Given the description of an element on the screen output the (x, y) to click on. 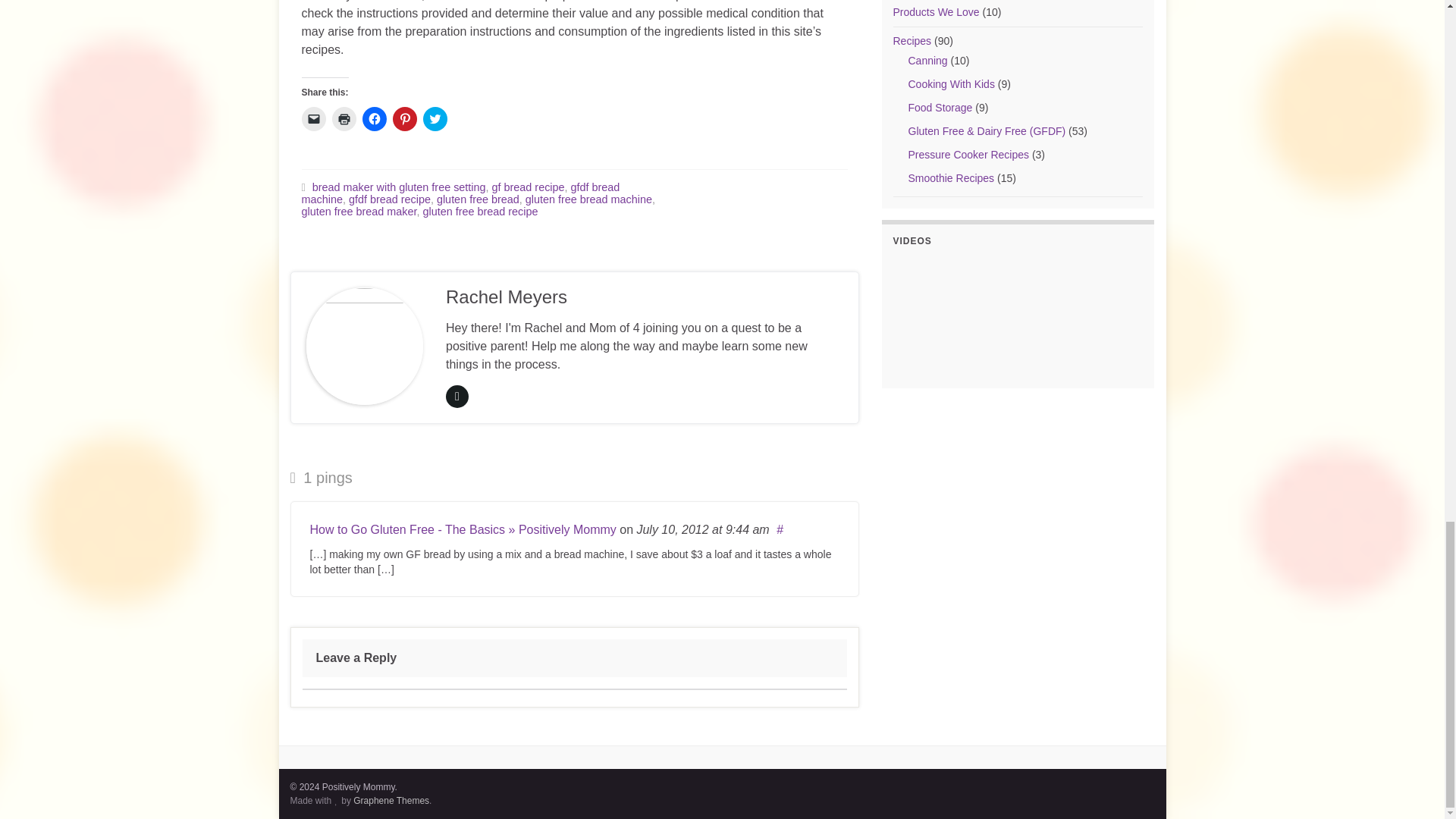
Click to share on Facebook (374, 119)
gfdf bread recipe (389, 199)
Click to share on Twitter (434, 119)
bread maker with gluten free setting (399, 186)
Click to email a link to a friend (313, 119)
gfdf bread machine (460, 192)
gluten free bread (477, 199)
gf bread recipe (528, 186)
Click to share on Pinterest (404, 119)
Click to print (343, 119)
gluten free bread machine (588, 199)
